Given the description of an element on the screen output the (x, y) to click on. 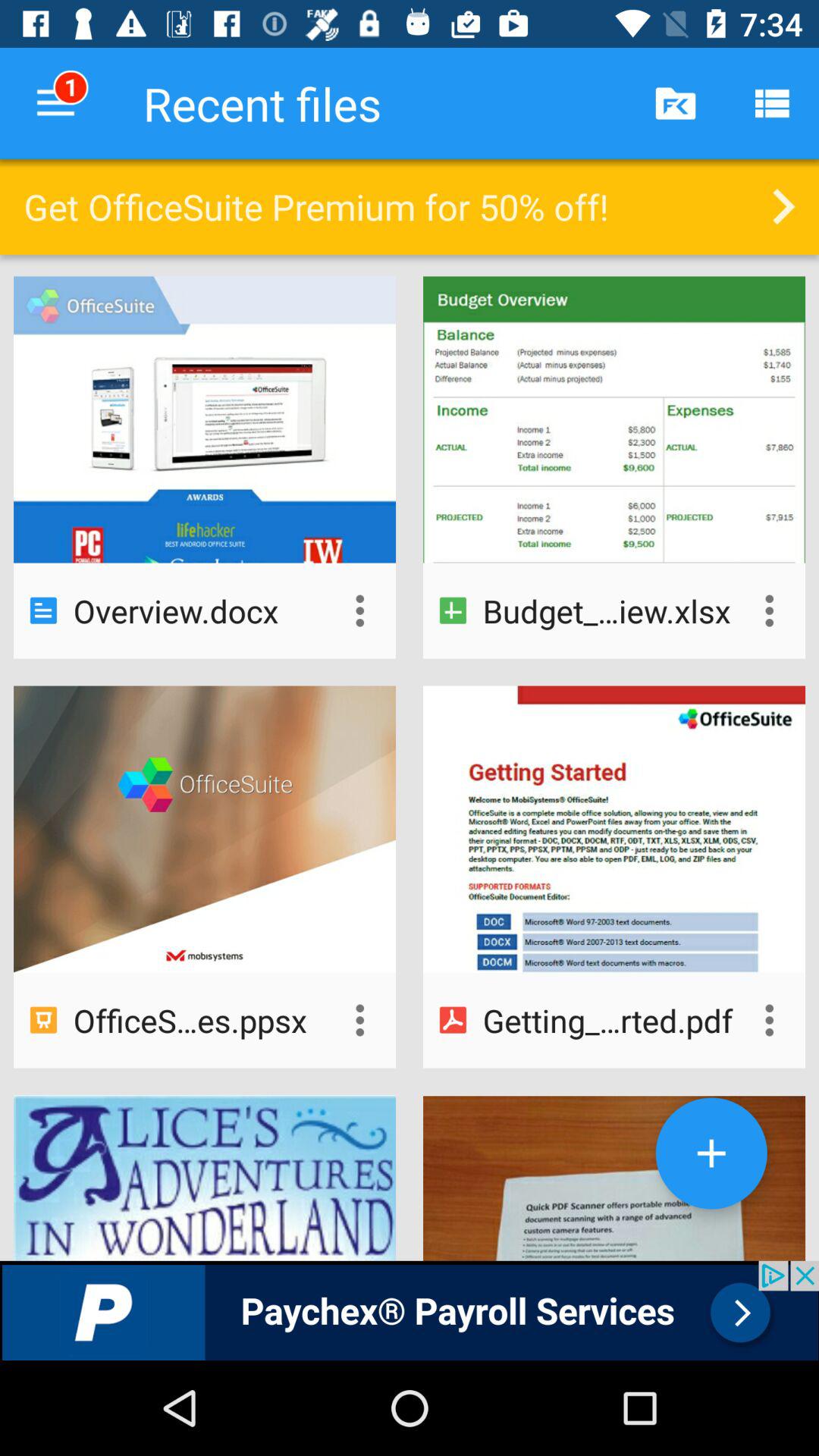
add file (711, 1153)
